Given the description of an element on the screen output the (x, y) to click on. 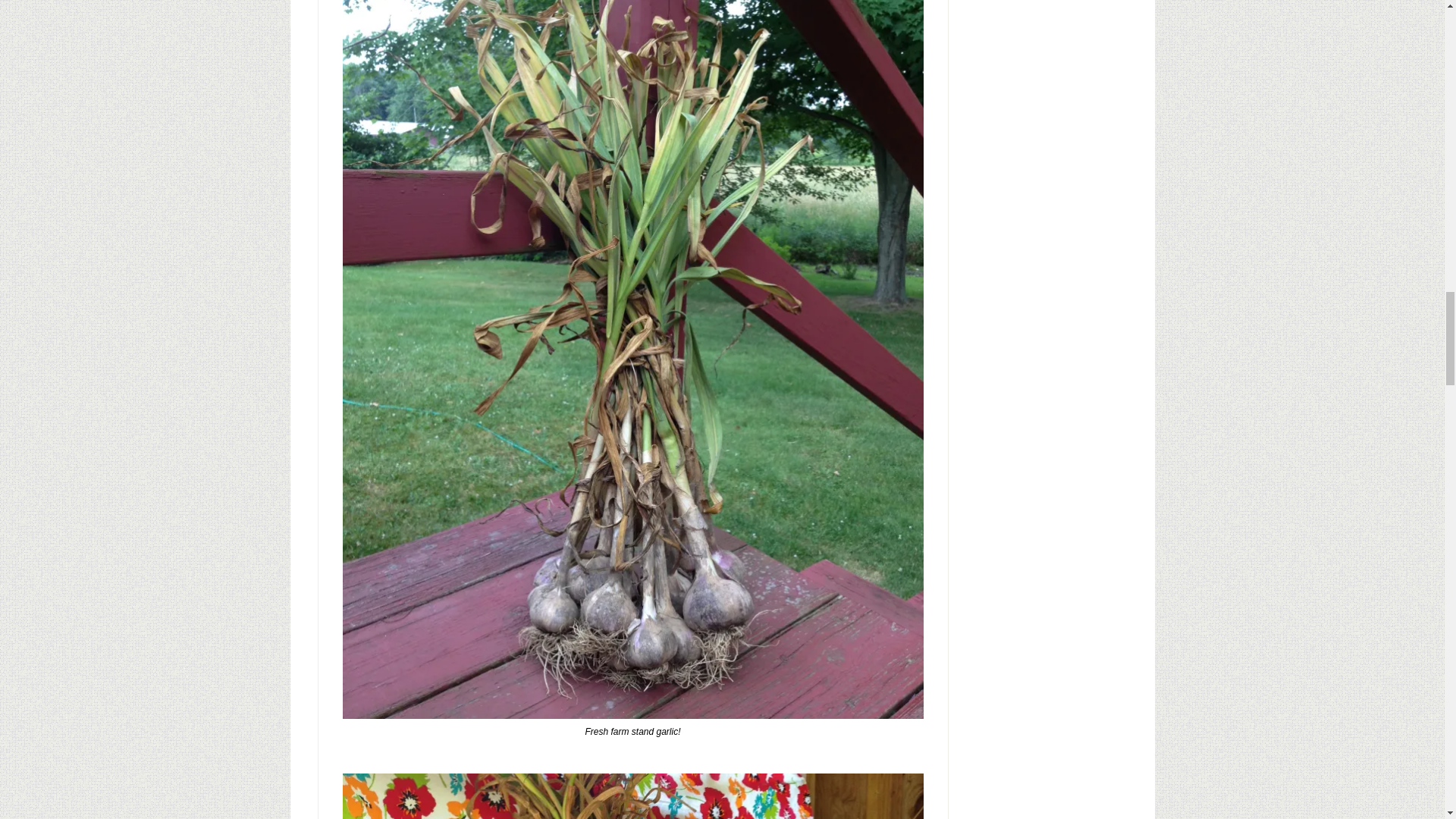
Ethel and her garlic (632, 796)
